Given the description of an element on the screen output the (x, y) to click on. 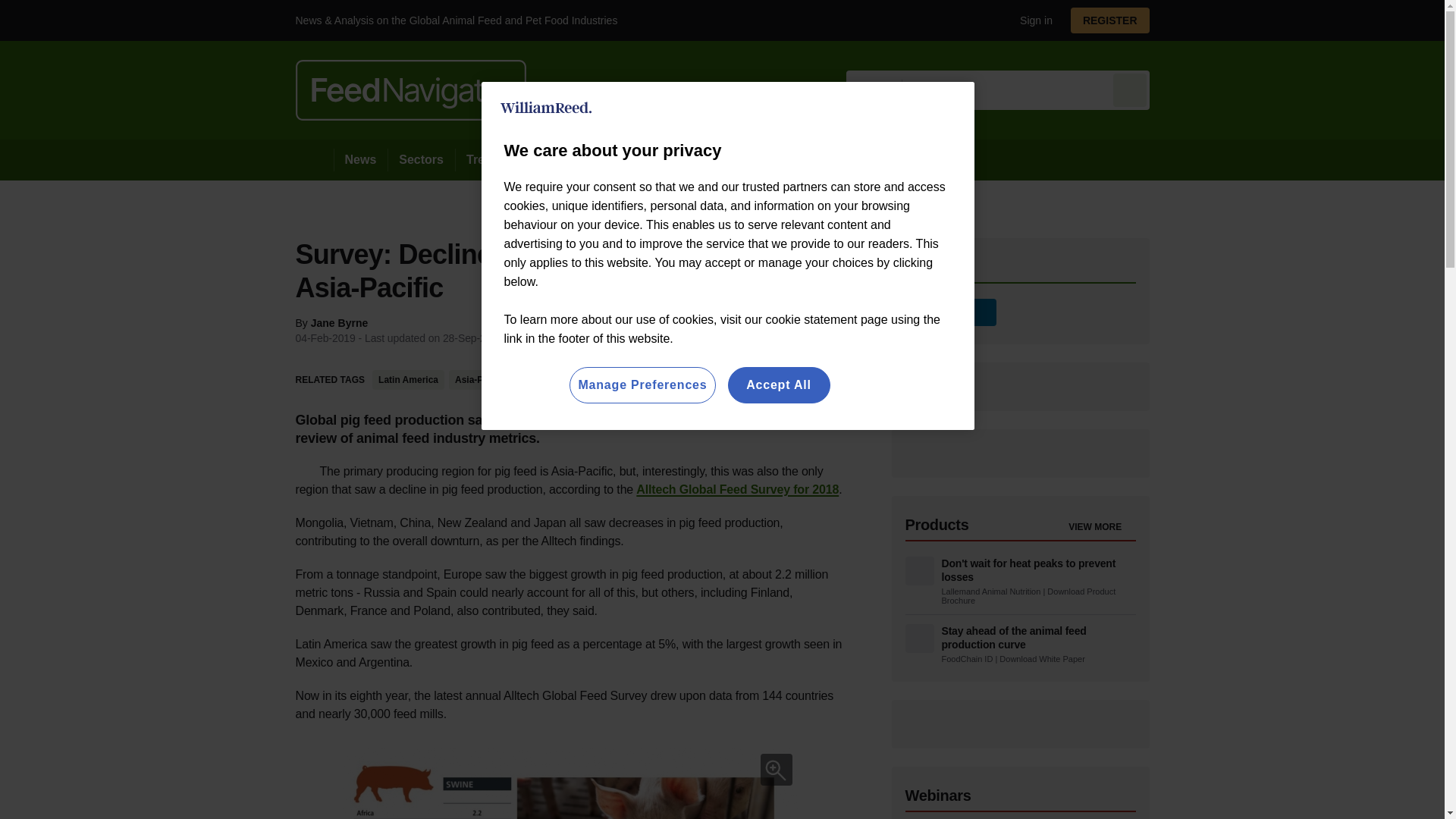
William Reed (545, 107)
Sign in (1029, 20)
FeedNavigator (410, 89)
Home (313, 159)
Home (314, 159)
Send (1129, 89)
My account (1114, 20)
News (360, 159)
Send (1129, 90)
REGISTER (1110, 20)
Trends (485, 159)
